Given the description of an element on the screen output the (x, y) to click on. 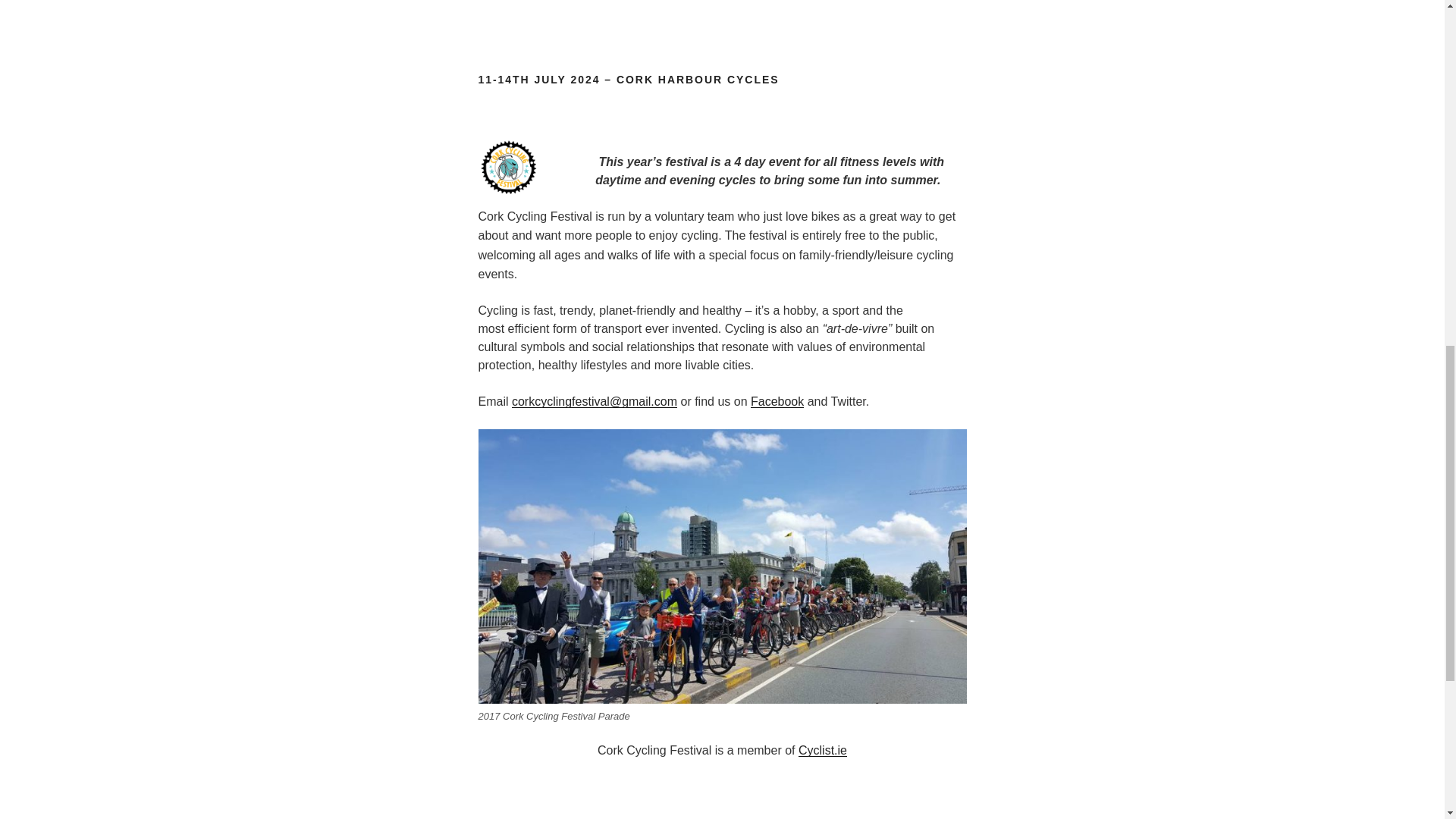
Cyclist.ie (822, 749)
Facebook (777, 400)
